Given the description of an element on the screen output the (x, y) to click on. 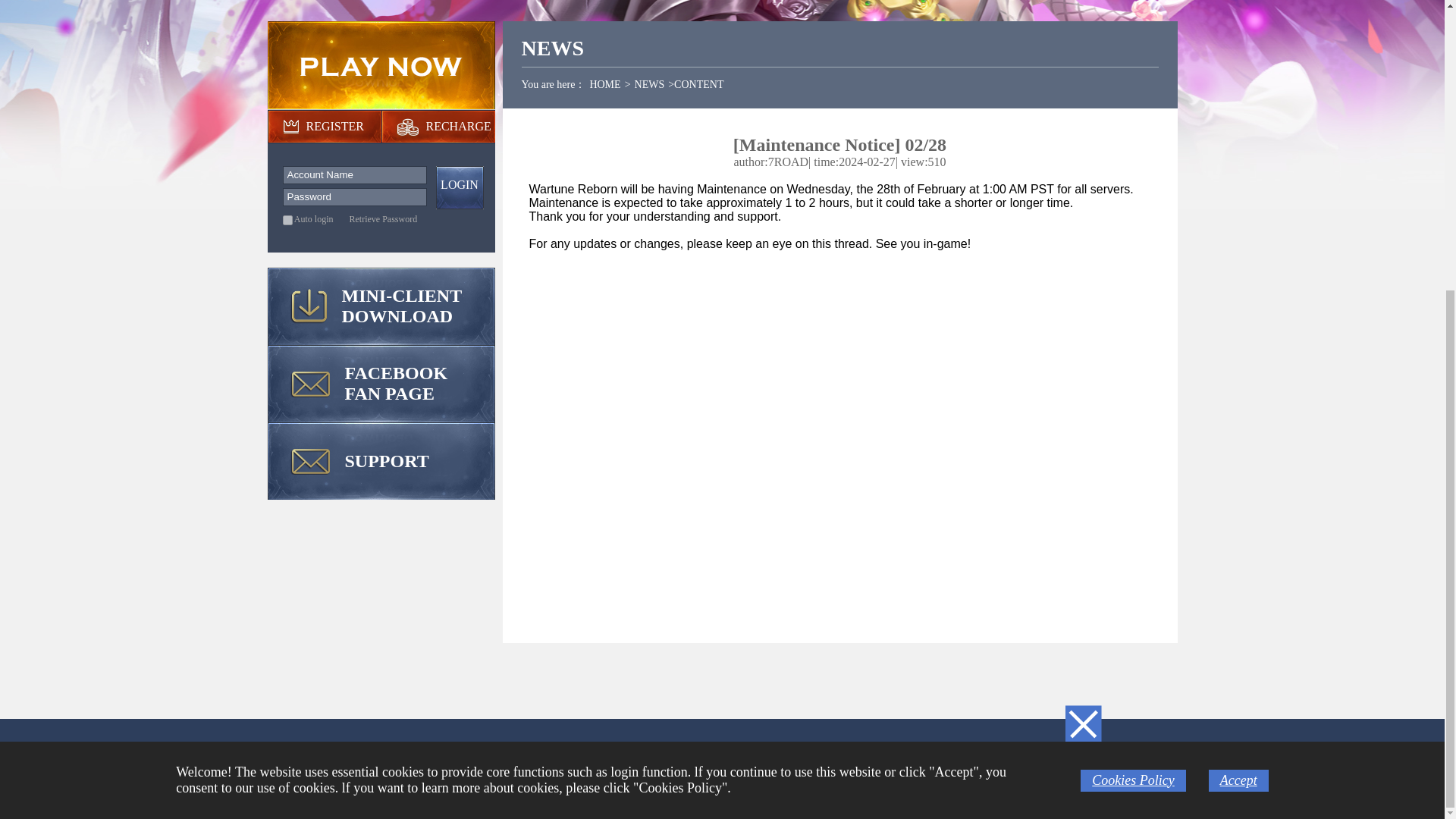
Cookies Policy (1132, 337)
Accept (1238, 337)
HOME (604, 84)
on (287, 220)
Cookie Policy (890, 768)
Retrieve Password (383, 218)
RECHARGE (459, 125)
LOGIN (459, 187)
Wartune Ultra (579, 768)
Privacy Policy (785, 768)
